Given the description of an element on the screen output the (x, y) to click on. 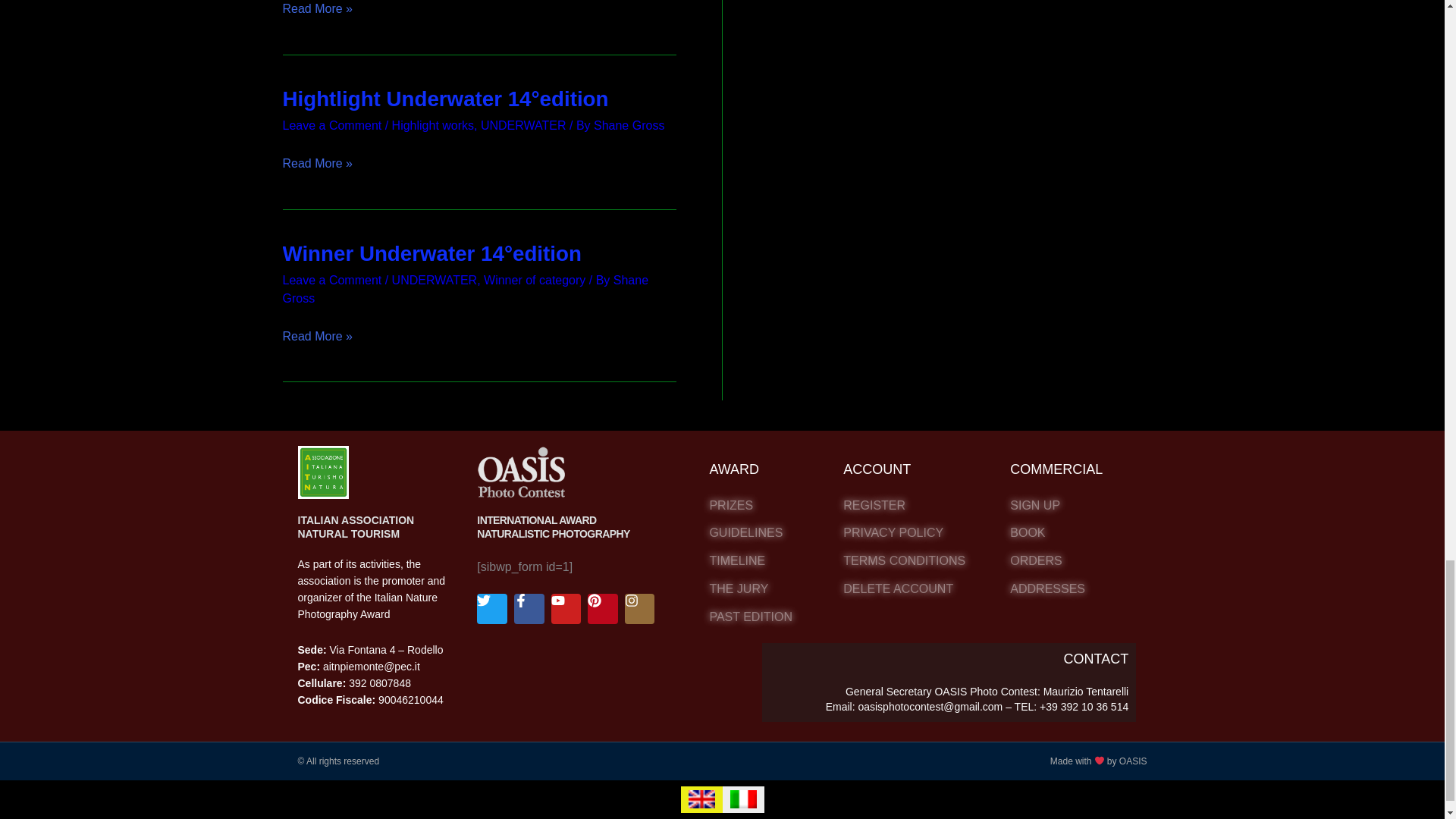
Highlight works (432, 124)
Leave a Comment (331, 279)
View all posts by Shane Gross (628, 124)
View all posts by Shane Gross (464, 288)
UNDERWATER (523, 124)
Shane Gross (628, 124)
Leave a Comment (331, 124)
Winner of category (534, 279)
Twitter (491, 608)
Shane Gross (464, 288)
